Given the description of an element on the screen output the (x, y) to click on. 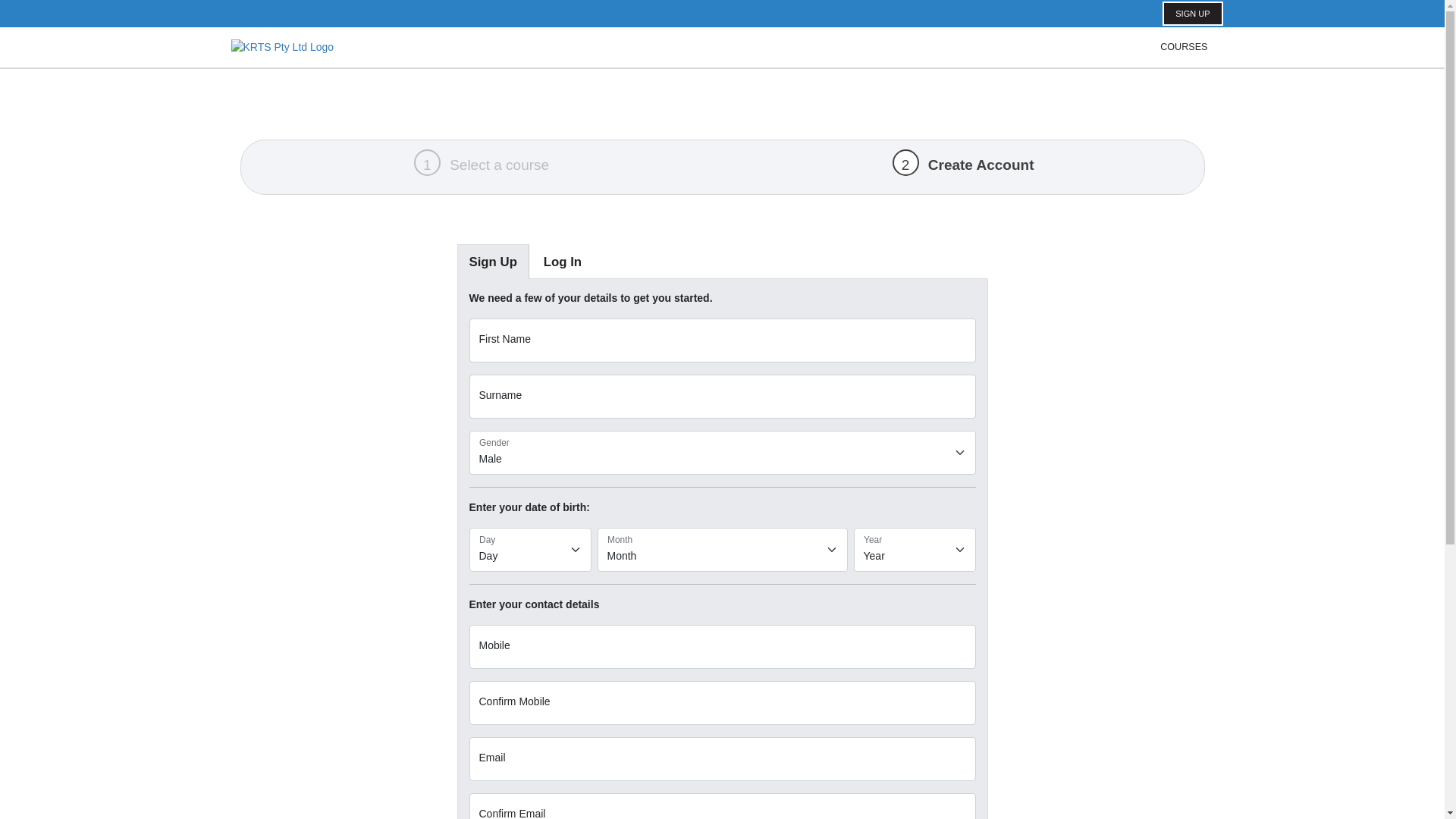
SIGN UP Element type: text (1192, 13)
COURSES Element type: text (1183, 47)
